Given the description of an element on the screen output the (x, y) to click on. 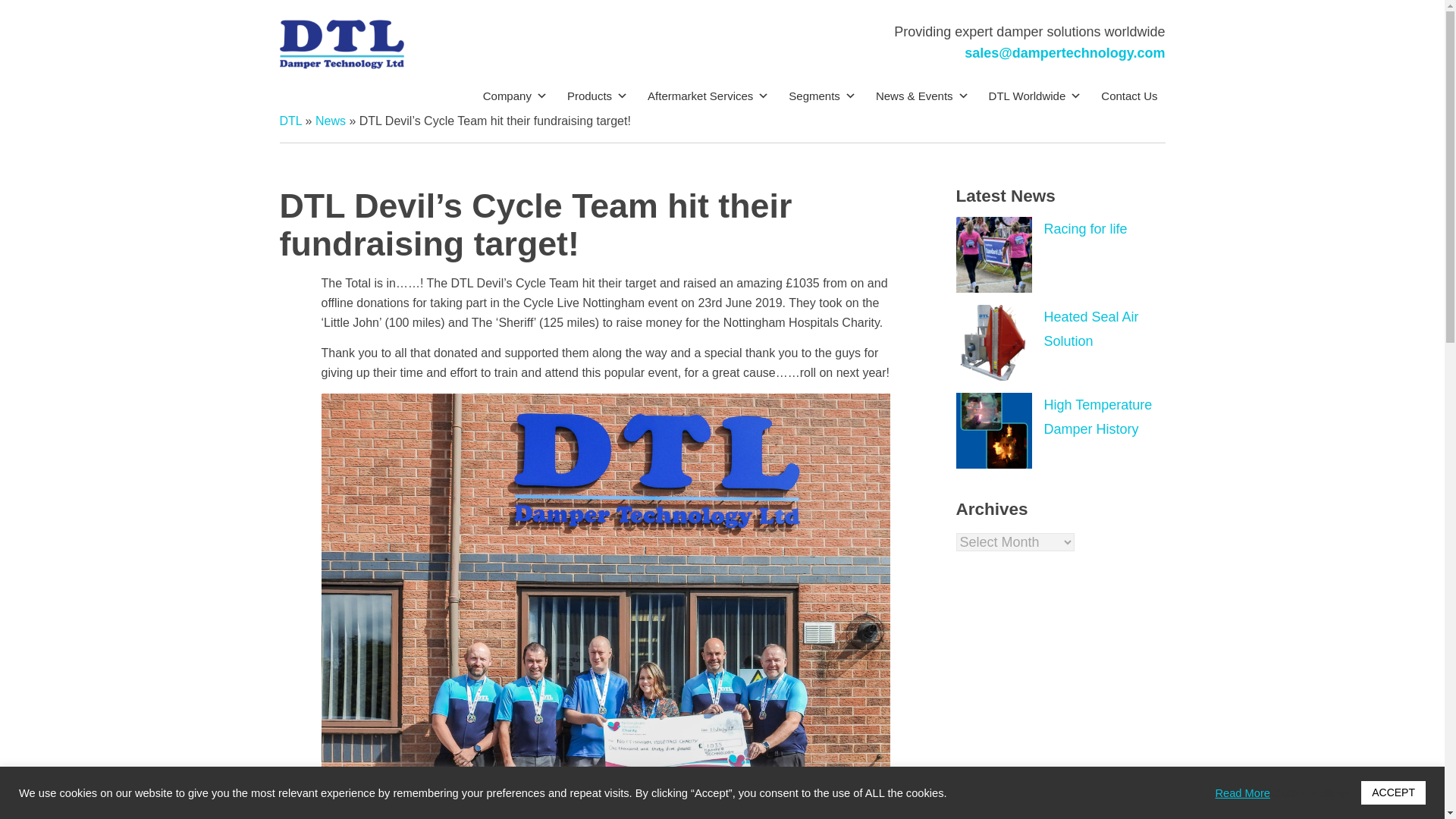
Damper Technology Ltd (372, 76)
Aftermarket Services (705, 96)
Segments (819, 96)
Products (594, 96)
Company (512, 96)
